Given the description of an element on the screen output the (x, y) to click on. 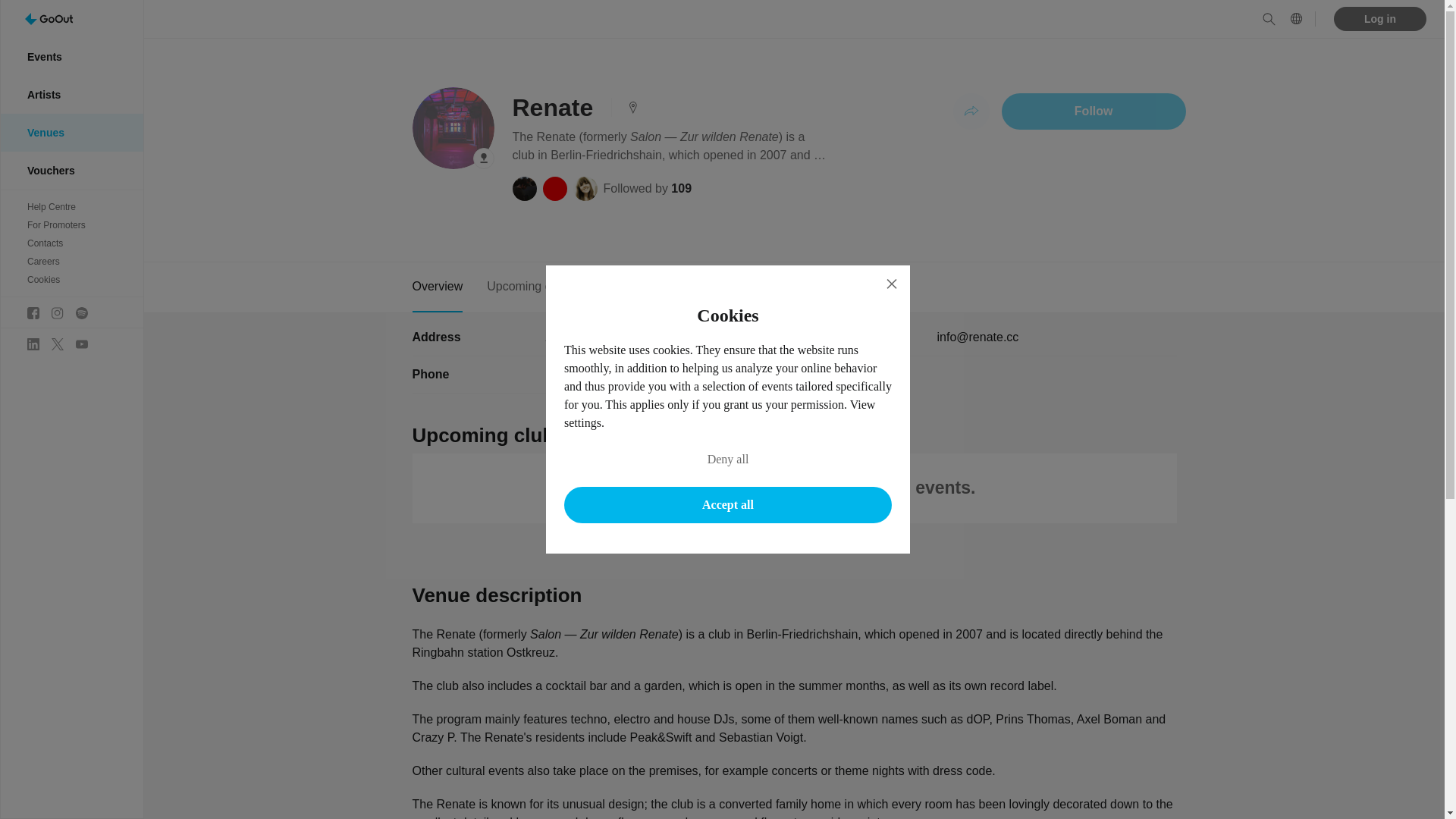
Vouchers (71, 170)
Overview (437, 287)
Events (71, 56)
Upcoming club events (545, 287)
Log in (1379, 18)
Help Centre (71, 207)
Artists (71, 94)
For Promoters (71, 225)
Venues (71, 132)
Contacts (71, 243)
Past events (662, 287)
Alt-Stralau 70, Berlin (600, 336)
Careers (71, 261)
Follow (1093, 110)
